Given the description of an element on the screen output the (x, y) to click on. 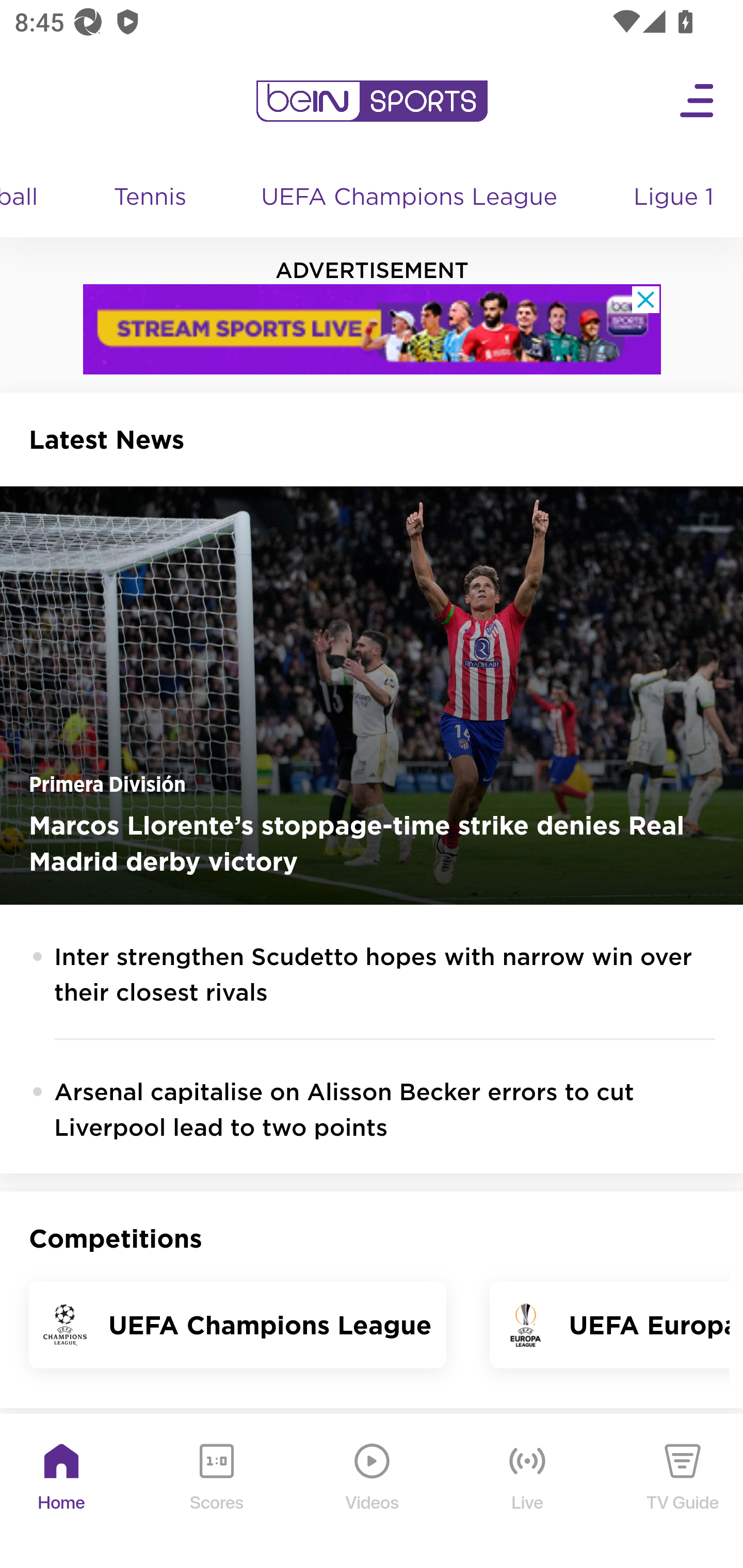
en-my?platform=mobile_android bein logo (371, 101)
Open Menu Icon (697, 101)
Tennis (150, 198)
UEFA Champions League (410, 198)
Ligue 1 (675, 198)
l8psv8uu (372, 328)
Home Home Icon Home (61, 1491)
Home Home Icon Home (61, 1491)
Scores Scores Icon Scores (216, 1491)
Videos Videos Icon Videos (372, 1491)
TV Guide TV Guide Icon TV Guide (682, 1491)
